Given the description of an element on the screen output the (x, y) to click on. 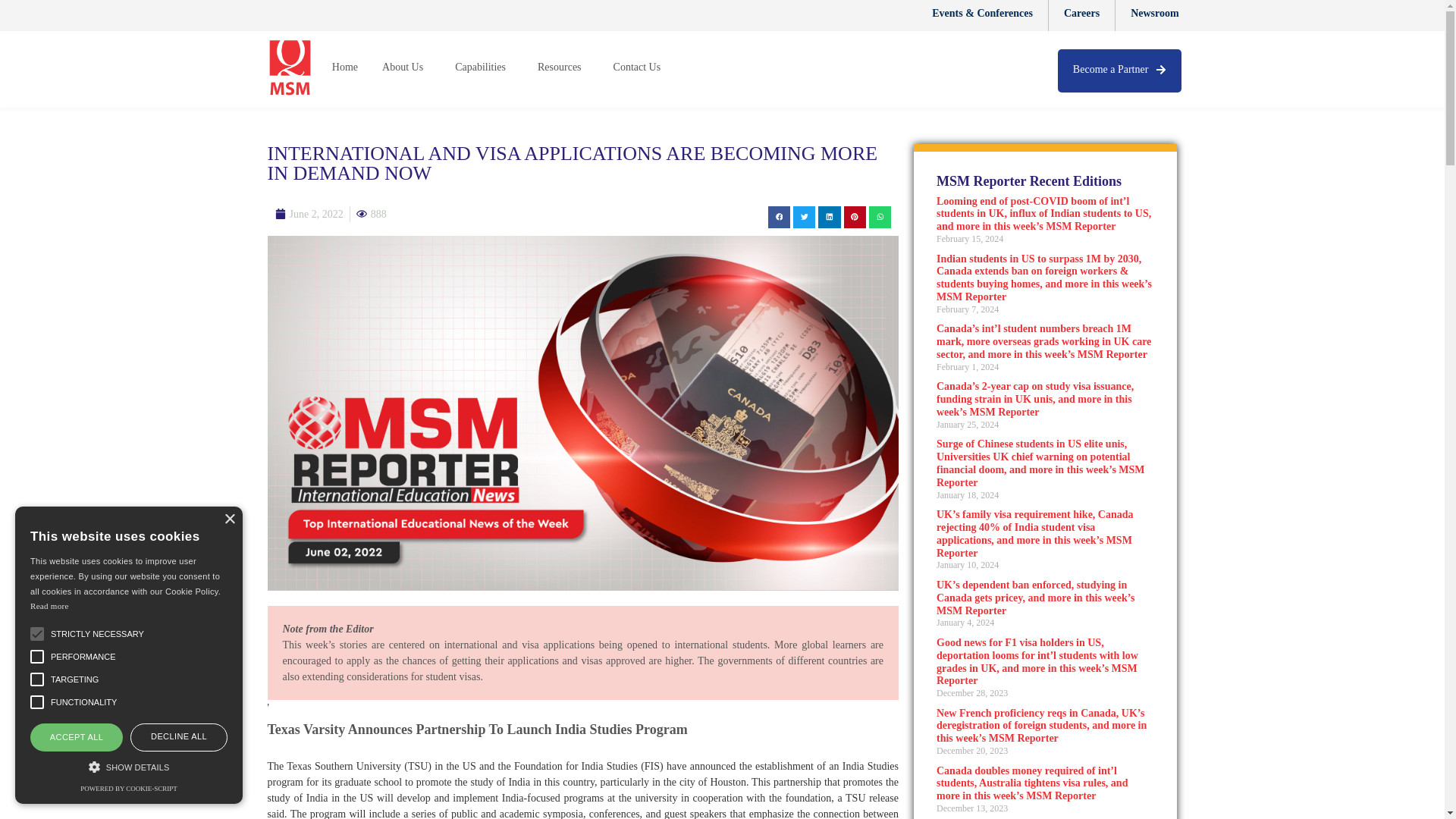
Capabilities (483, 67)
About Us (405, 67)
Home (344, 67)
Newsroom (1154, 15)
Careers (1081, 15)
